Given the description of an element on the screen output the (x, y) to click on. 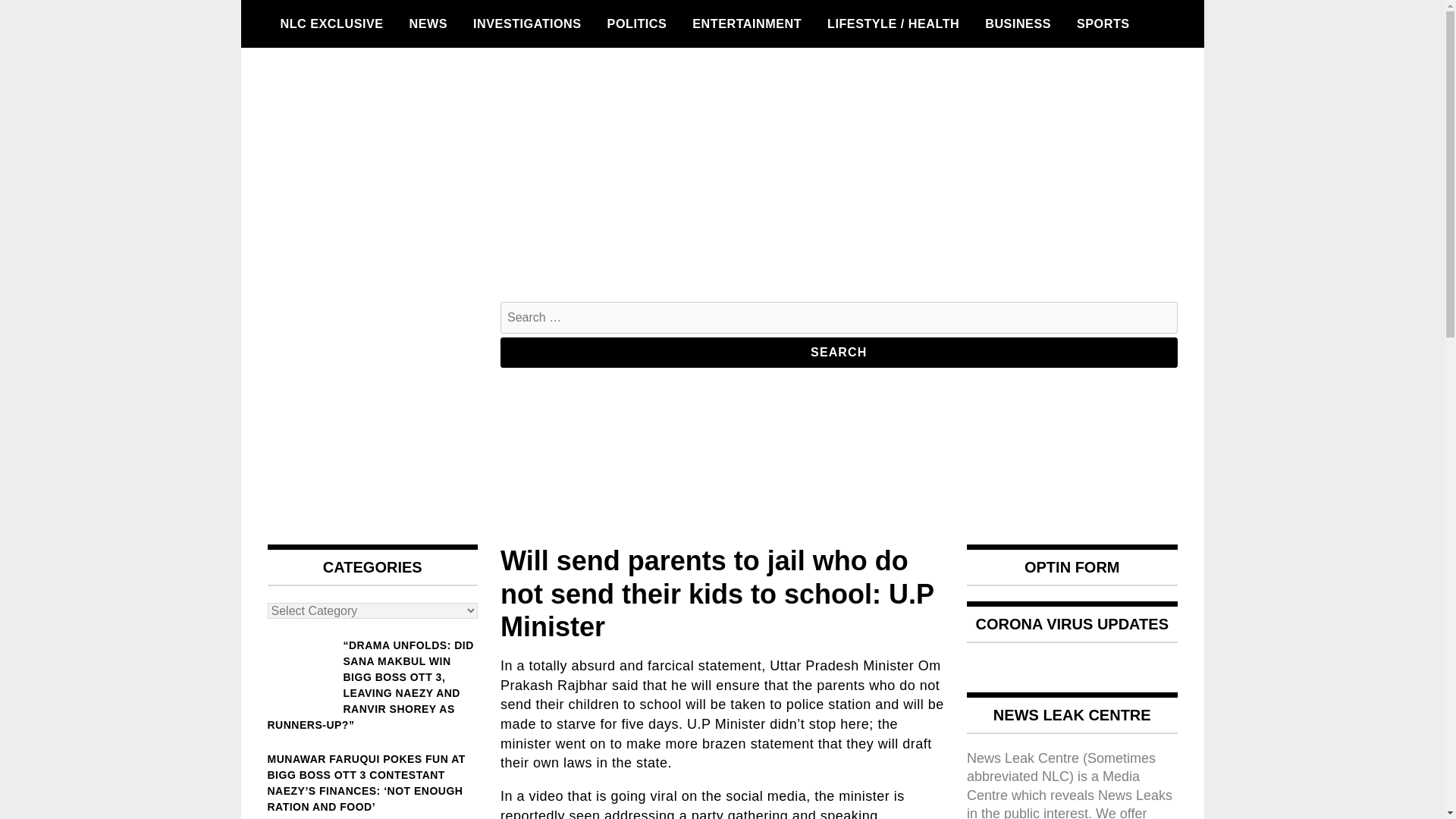
Search (838, 352)
BUSINESS (1018, 23)
News Leak Centre (339, 556)
Search (838, 352)
Search (838, 352)
ENTERTAINMENT (746, 23)
INVESTIGATIONS (526, 23)
NLC EXCLUSIVE (330, 23)
NEWS (428, 23)
POLITICS (636, 23)
SPORTS (1103, 23)
